Given the description of an element on the screen output the (x, y) to click on. 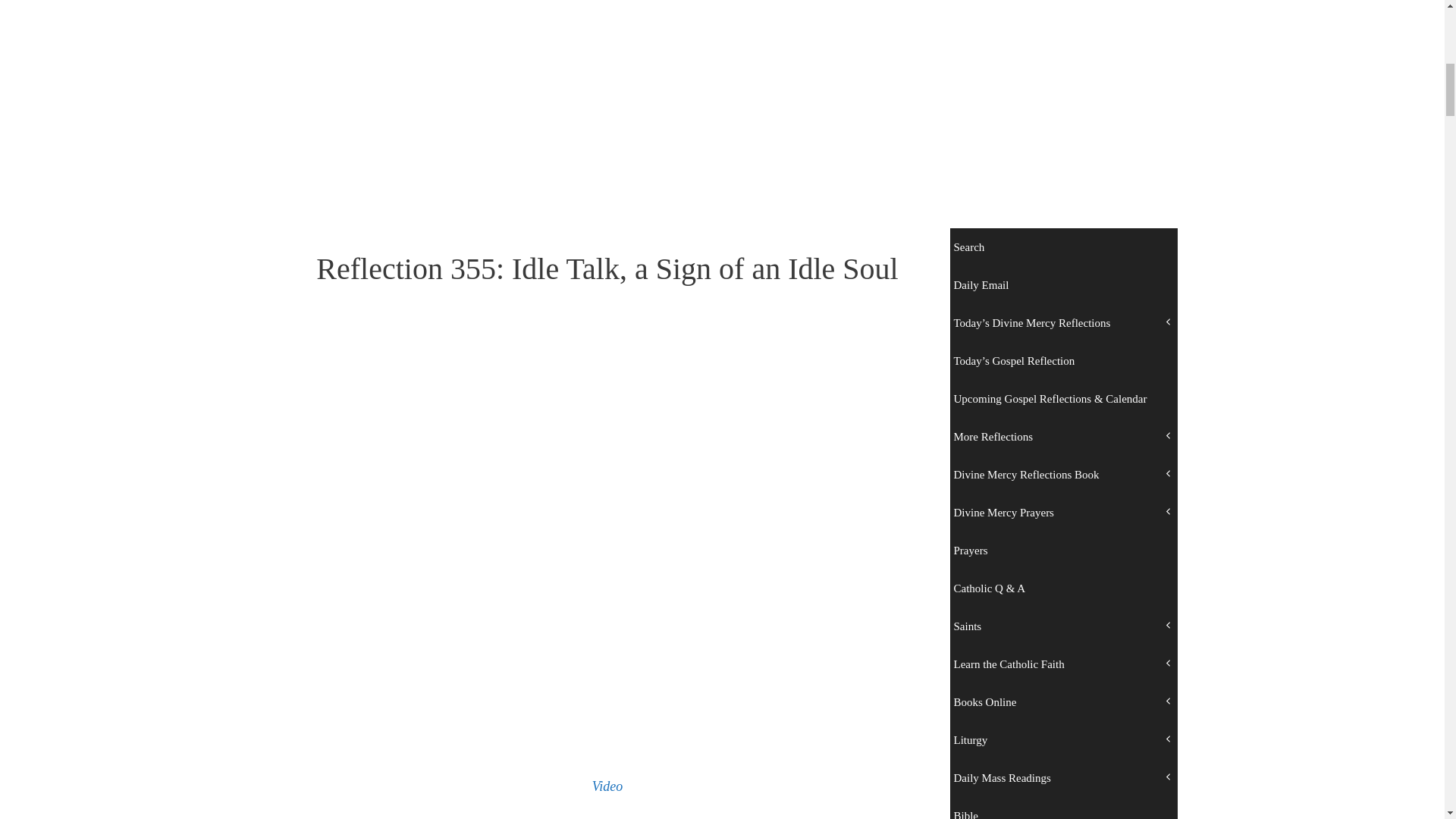
Video (607, 785)
